Given the description of an element on the screen output the (x, y) to click on. 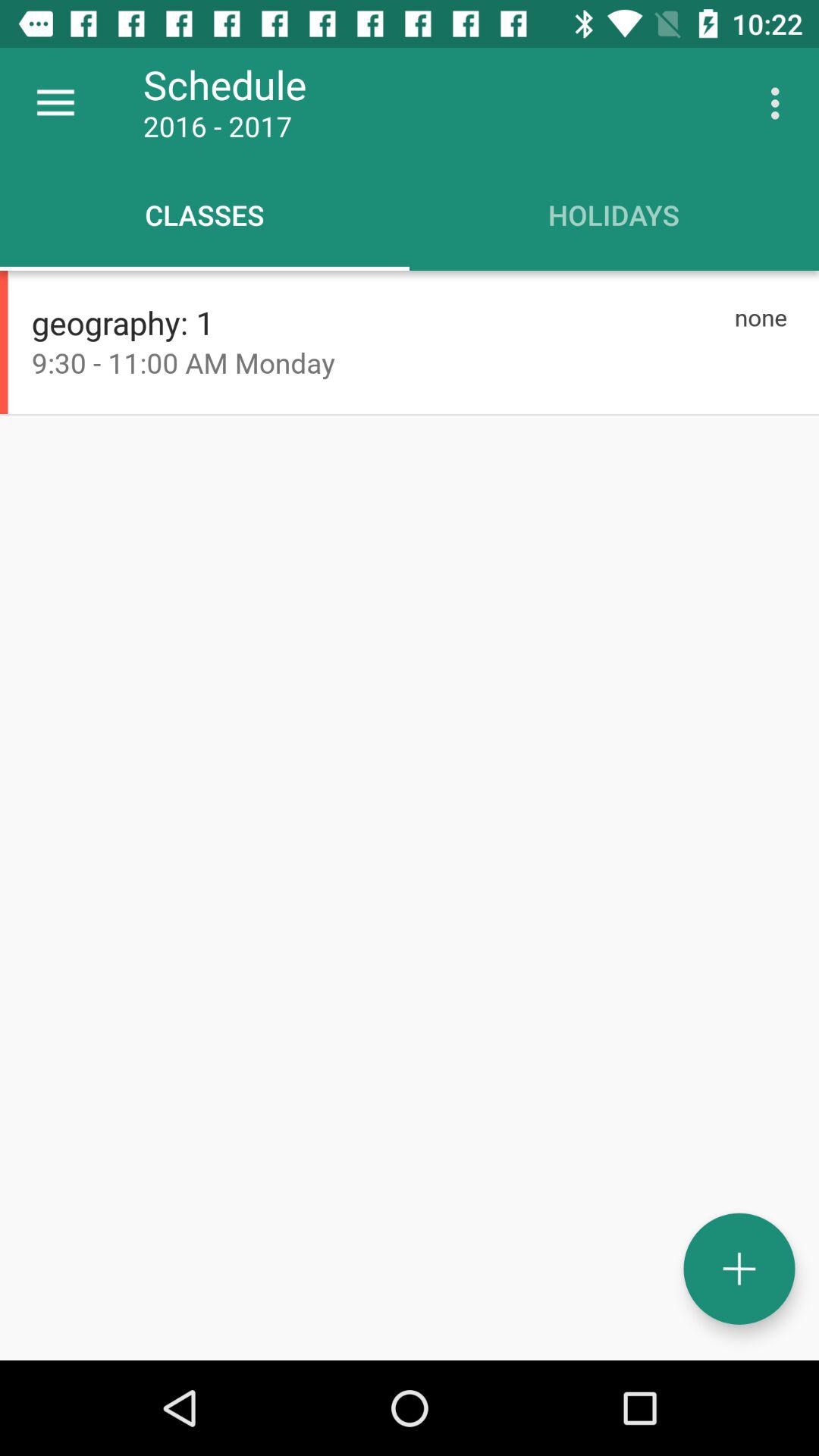
press icon next to the schedule item (55, 103)
